Given the description of an element on the screen output the (x, y) to click on. 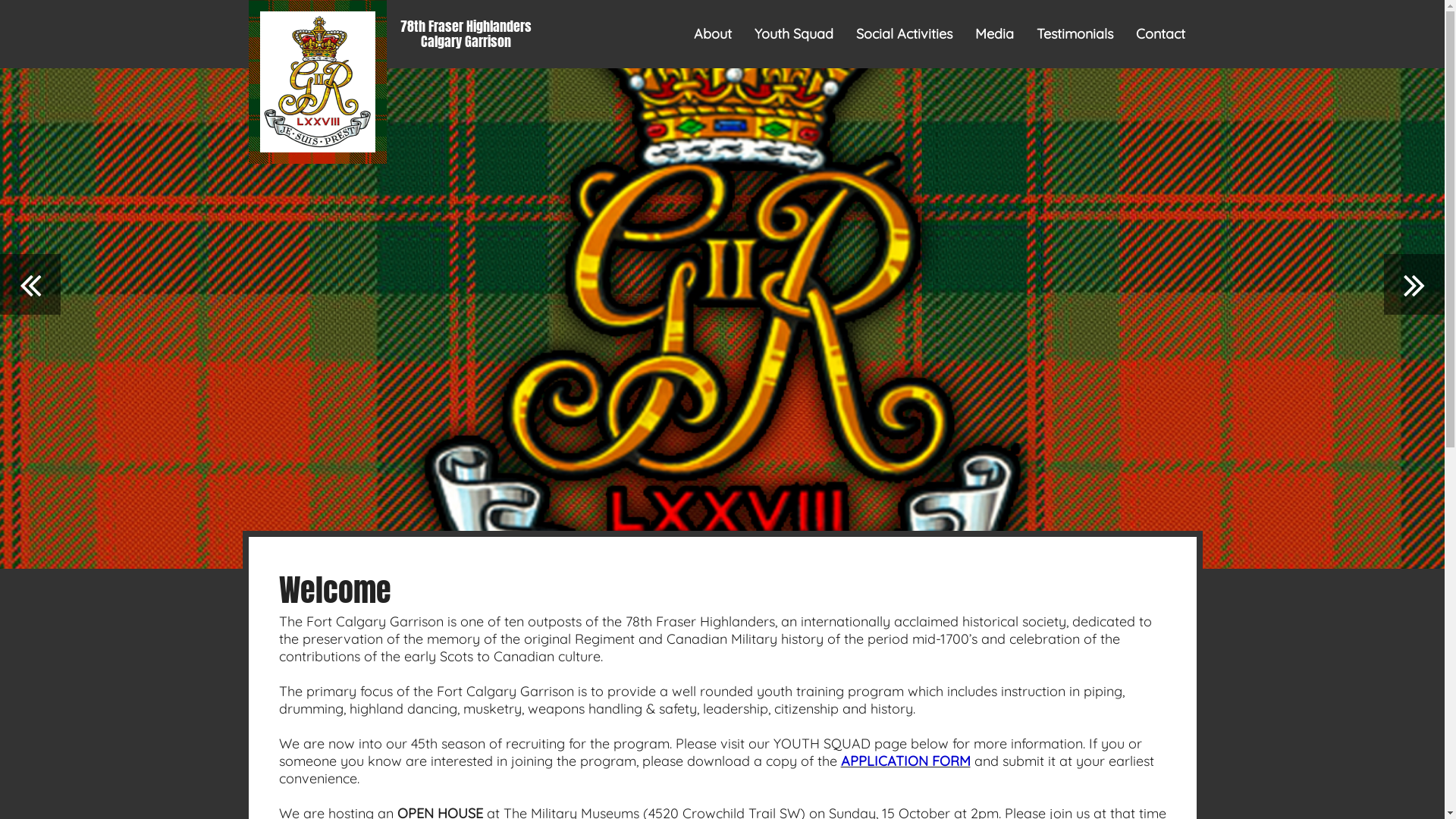
Contact Element type: text (1160, 34)
About Element type: text (712, 34)
Social Activities Element type: text (903, 34)
Youth Squad Element type: text (792, 34)
78 Fraser Highlanders Calgary Element type: hover (316, 81)
Media Element type: text (994, 34)
Testimonials Element type: text (1073, 34)
APPLICATION FORM Element type: text (904, 760)
